Given the description of an element on the screen output the (x, y) to click on. 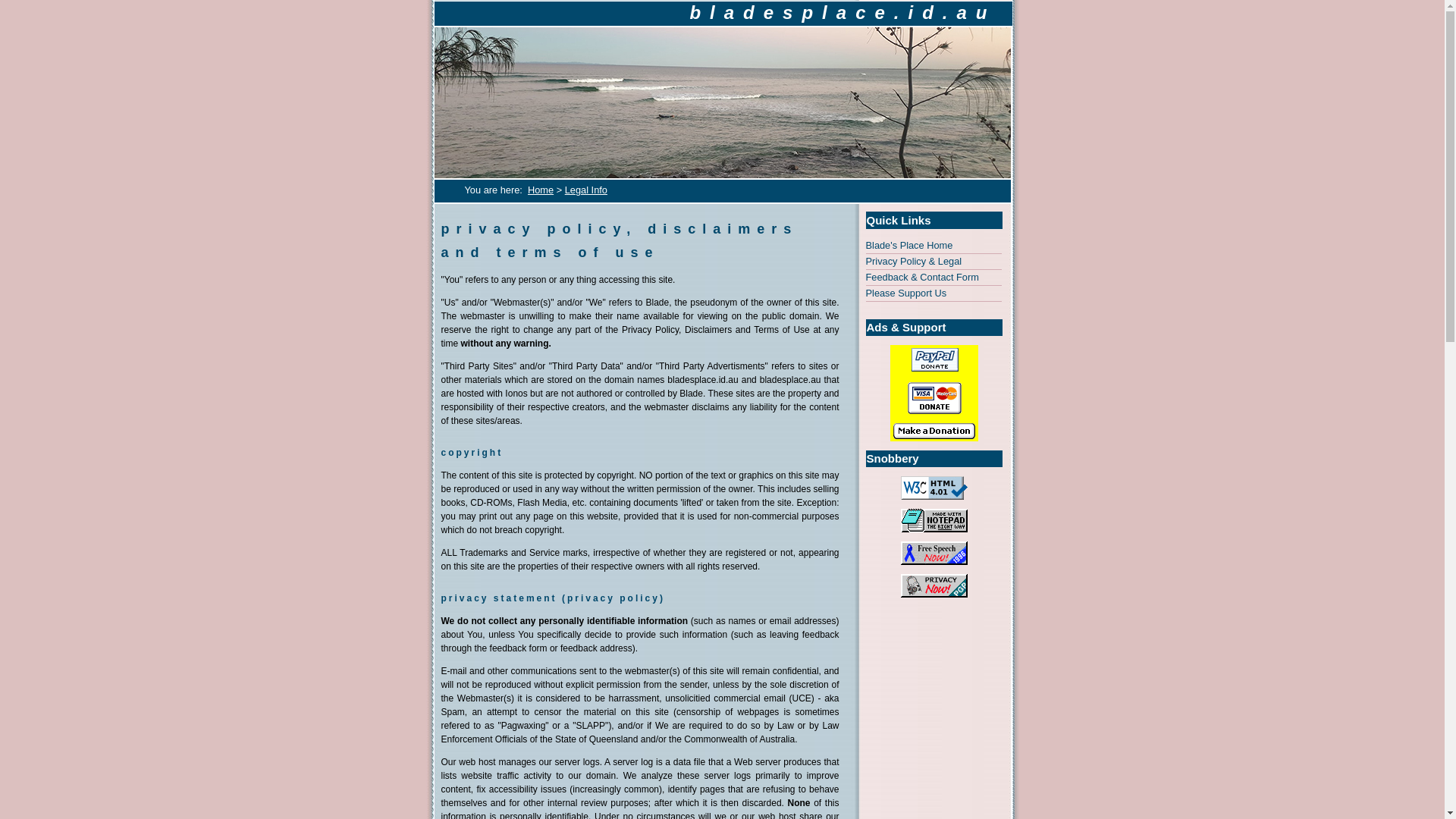
Freedom of Speech on the Internet (934, 553)
Home (540, 189)
Legal Info (585, 189)
Privacy NOW! PGPI (934, 585)
Please Support Us (934, 293)
This page was made with Notepad - the RIGHT way (934, 520)
bladesplace.id.au (841, 12)
Blade's Place Home (934, 245)
